Given the description of an element on the screen output the (x, y) to click on. 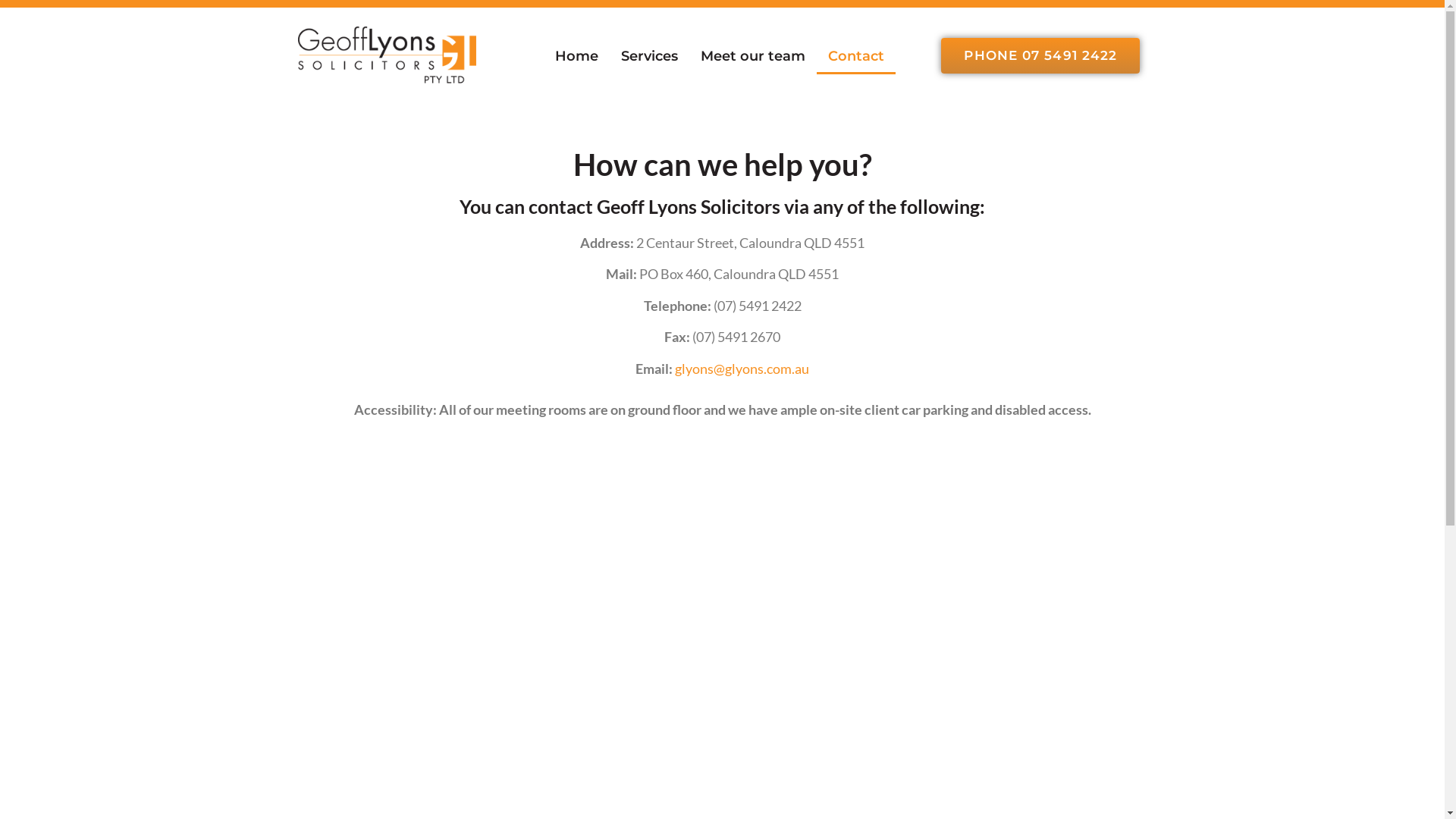
Home Element type: text (576, 55)
glyons@glyons.com.au Element type: text (741, 368)
Contact Element type: text (855, 55)
PHONE 07 5491 2422 Element type: text (1040, 55)
Services Element type: text (649, 55)
Meet our team Element type: text (752, 55)
